Given the description of an element on the screen output the (x, y) to click on. 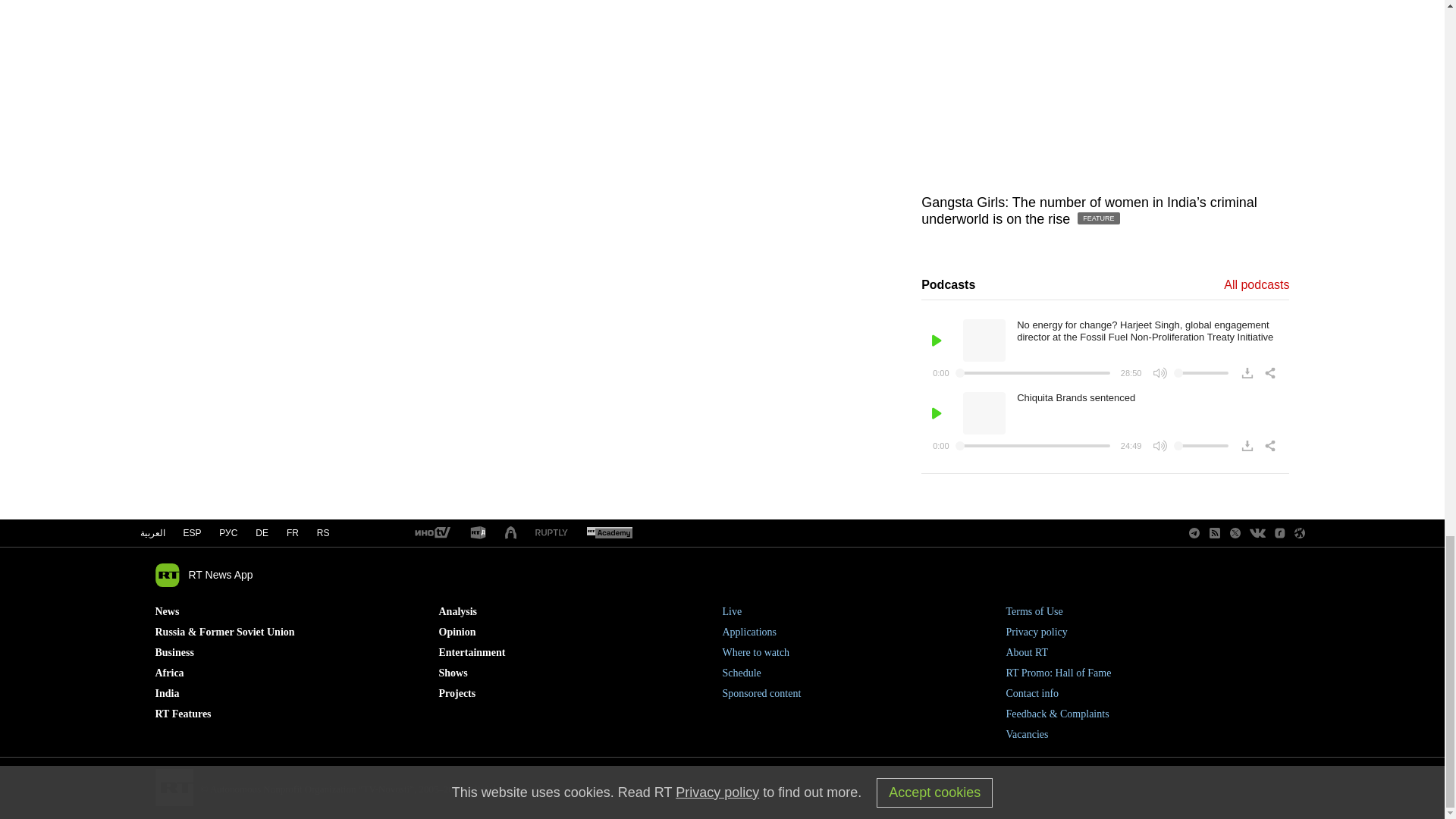
RT  (431, 533)
RT  (478, 533)
RT  (510, 533)
RT  (608, 533)
RT  (551, 533)
